Given the description of an element on the screen output the (x, y) to click on. 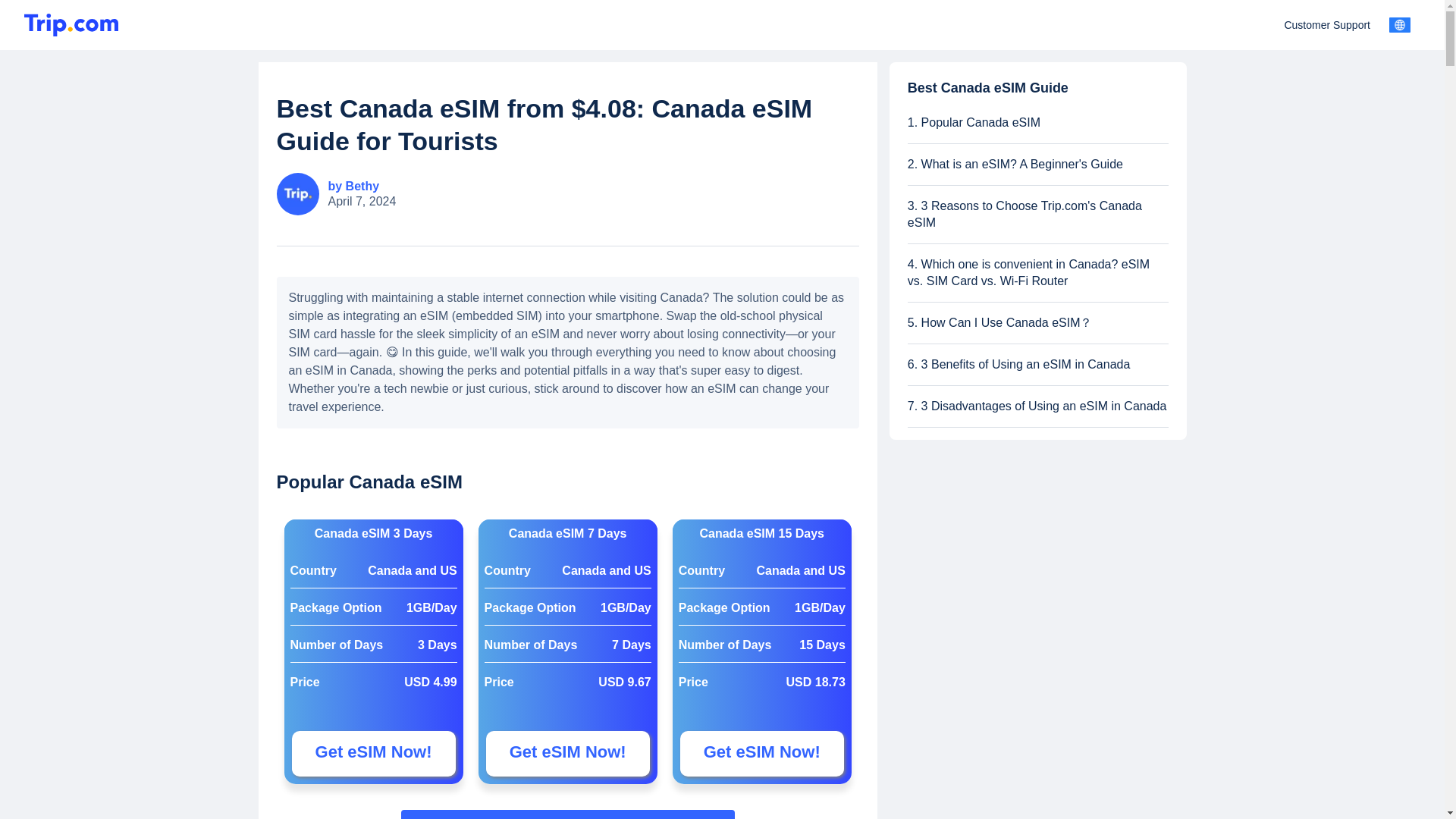
1. Popular Canada eSIM (1038, 122)
Get eSIM Now! (567, 753)
Customer Support (1326, 24)
Get eSIM Now! (761, 753)
Customer Support (1326, 24)
Get eSIM Now! (373, 753)
Check More Canada eSIM Plans Here! (568, 814)
3. 3 Reasons to Choose Trip.com's Canada eSIM (1038, 214)
2. What is an eSIM? A Beginner's Guide (1038, 164)
